Given the description of an element on the screen output the (x, y) to click on. 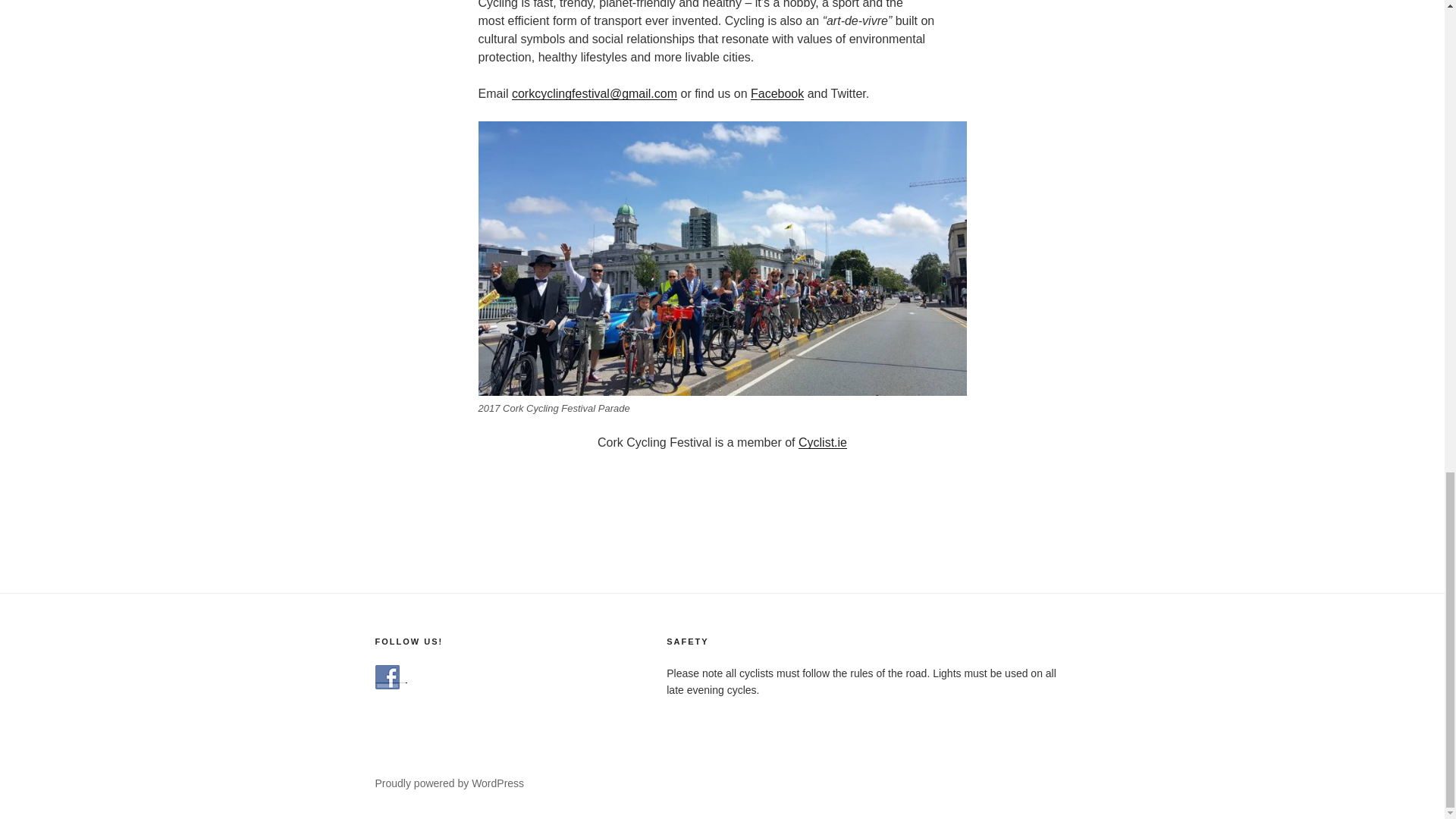
Facebook (777, 92)
Cyclist.ie (822, 441)
Follow Us on Facebook (386, 677)
Proudly powered by WordPress (449, 783)
